Given the description of an element on the screen output the (x, y) to click on. 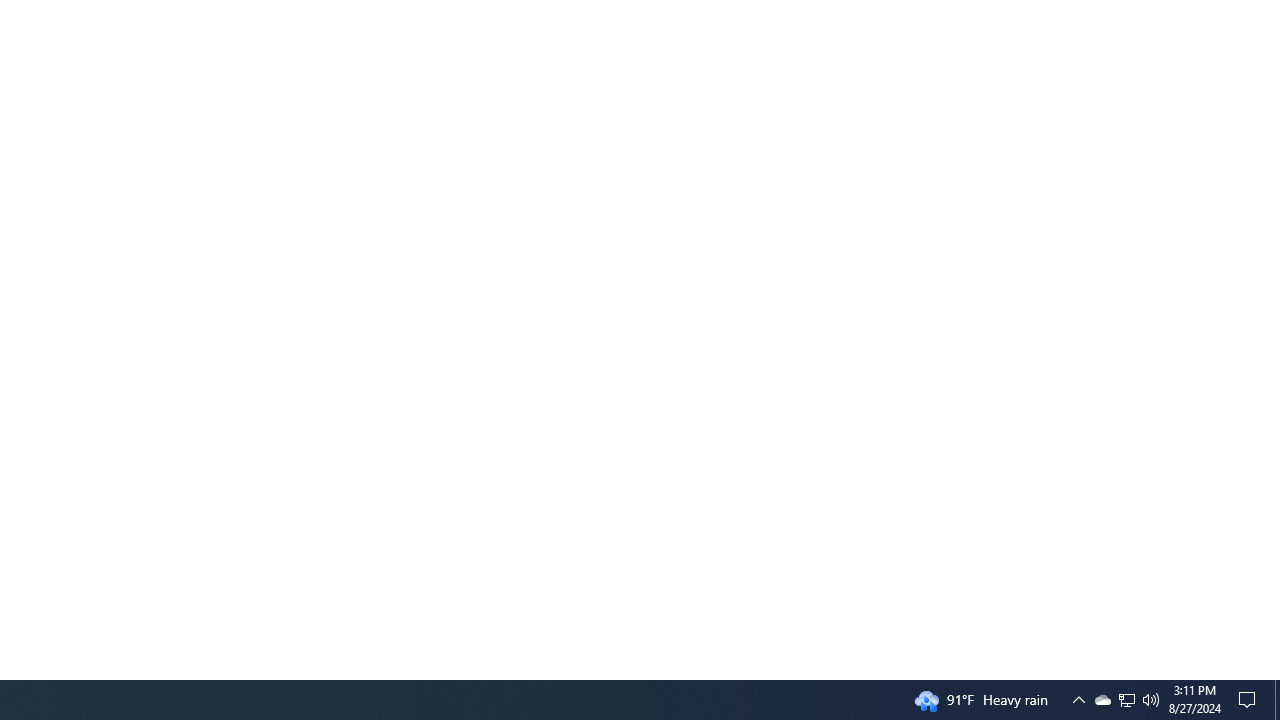
User Promoted Notification Area (1126, 699)
Show desktop (1126, 699)
Action Center, No new notifications (1277, 699)
Q2790: 100% (1250, 699)
Notification Chevron (1151, 699)
